Given the description of an element on the screen output the (x, y) to click on. 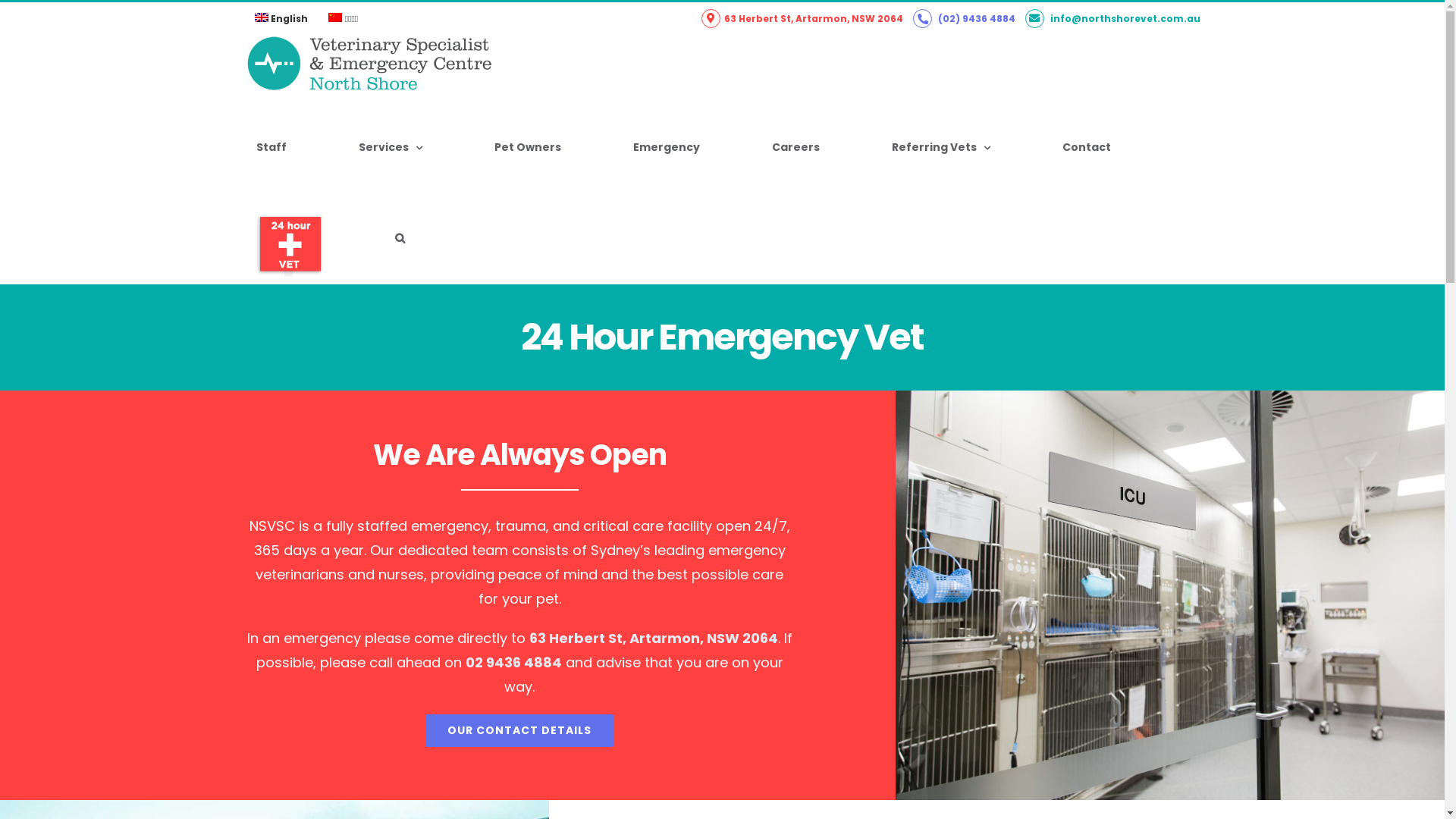
Services Element type: text (390, 146)
OUR CONTACT DETAILS Element type: text (519, 730)
02 9436 4884 Element type: text (513, 661)
Staff Element type: text (270, 146)
info@northshorevet.com.au Element type: text (1112, 18)
63 Herbert St, Artarmon, NSW 2064 Element type: text (653, 637)
English Element type: text (280, 18)
(02) 9436 4884 Element type: text (965, 18)
Referring Vets Element type: text (940, 146)
63 Herbert St, Artarmon, NSW 2064 Element type: text (801, 18)
Search Element type: hover (399, 237)
Contact Element type: text (1086, 146)
Pet Owners Element type: text (526, 146)
Careers Element type: text (794, 146)
Emergency Element type: text (666, 146)
